Given the description of an element on the screen output the (x, y) to click on. 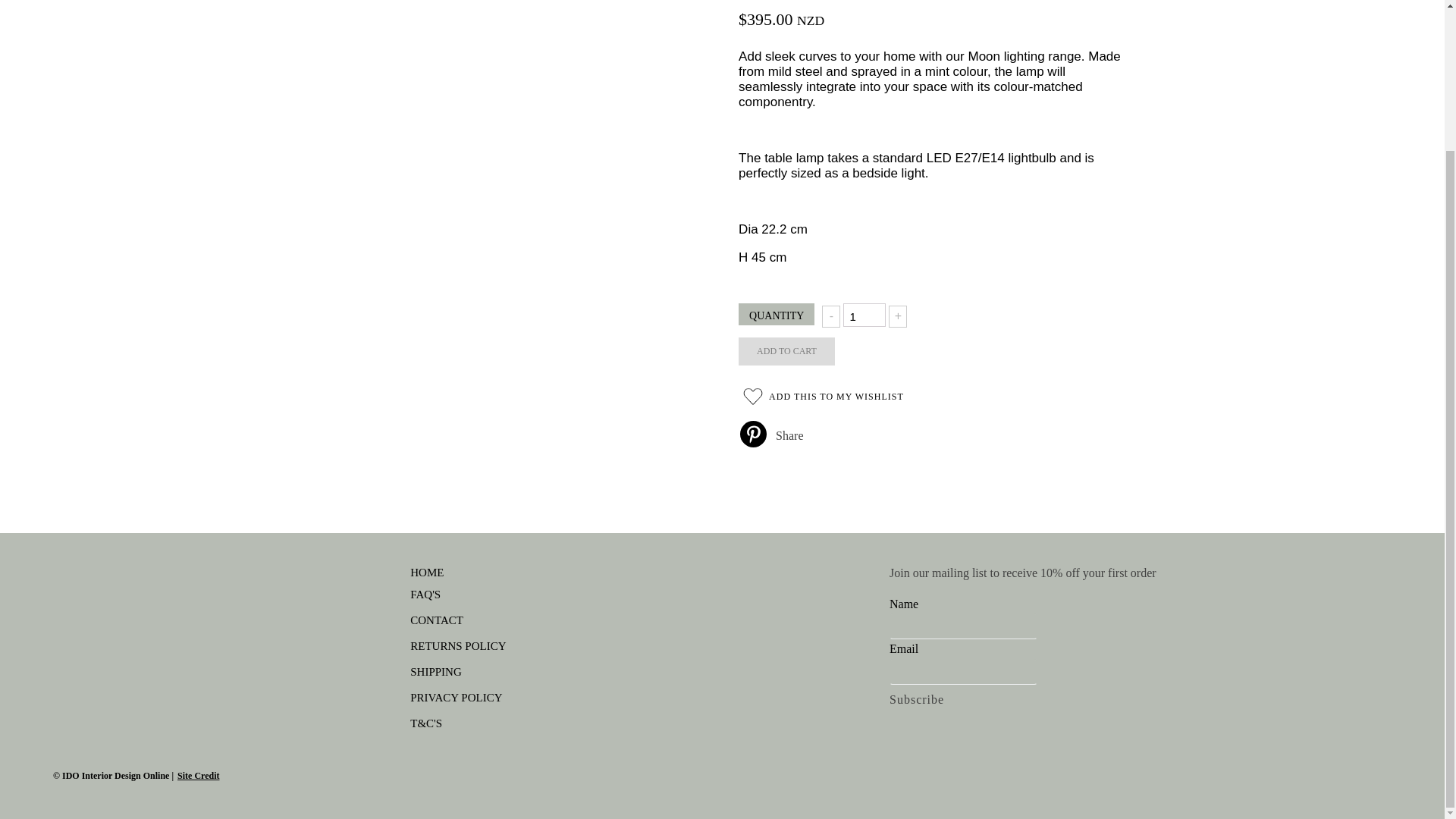
1 (864, 314)
Pinterest (753, 433)
